Given the description of an element on the screen output the (x, y) to click on. 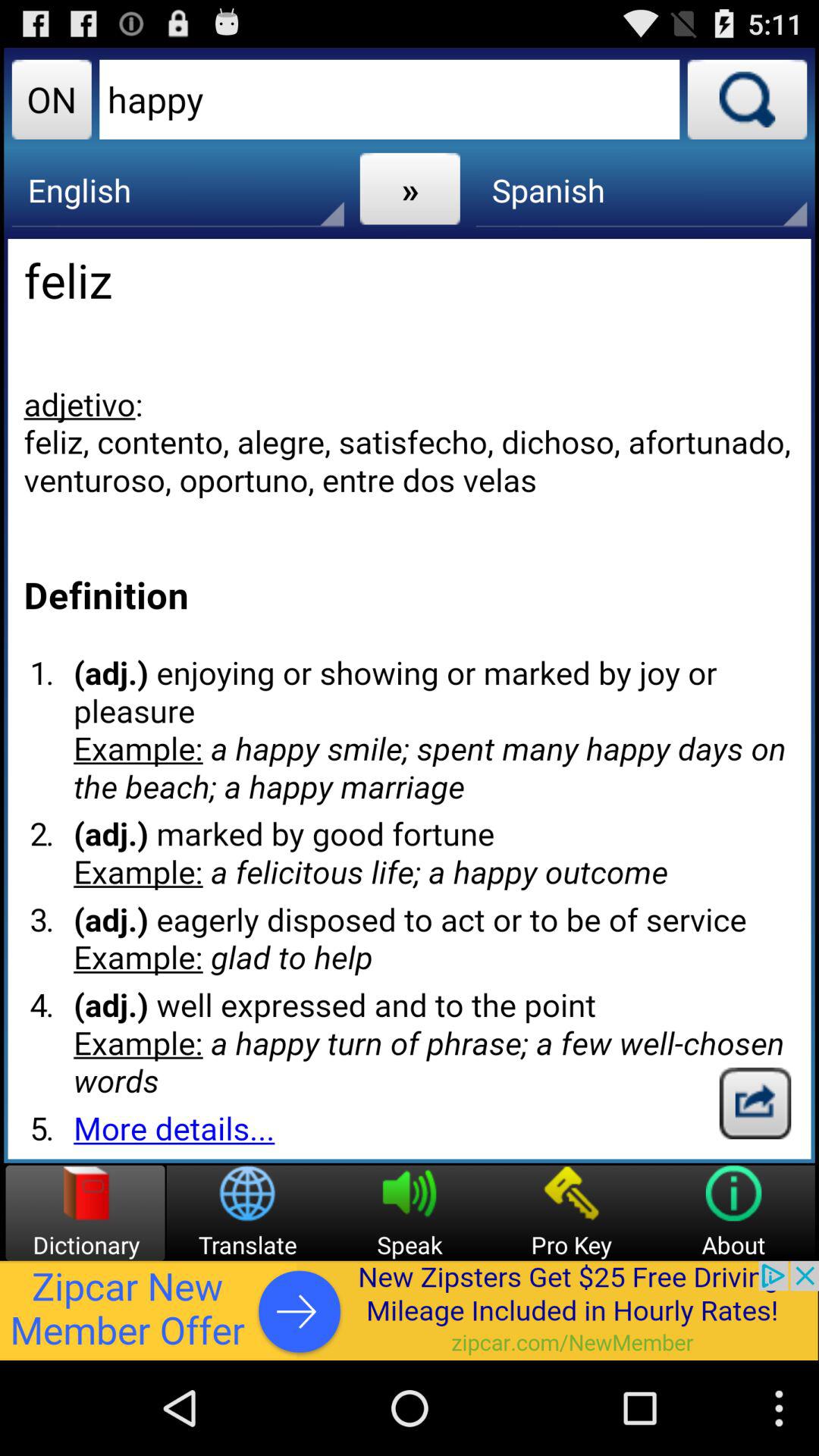
click on english (178, 190)
